Given the description of an element on the screen output the (x, y) to click on. 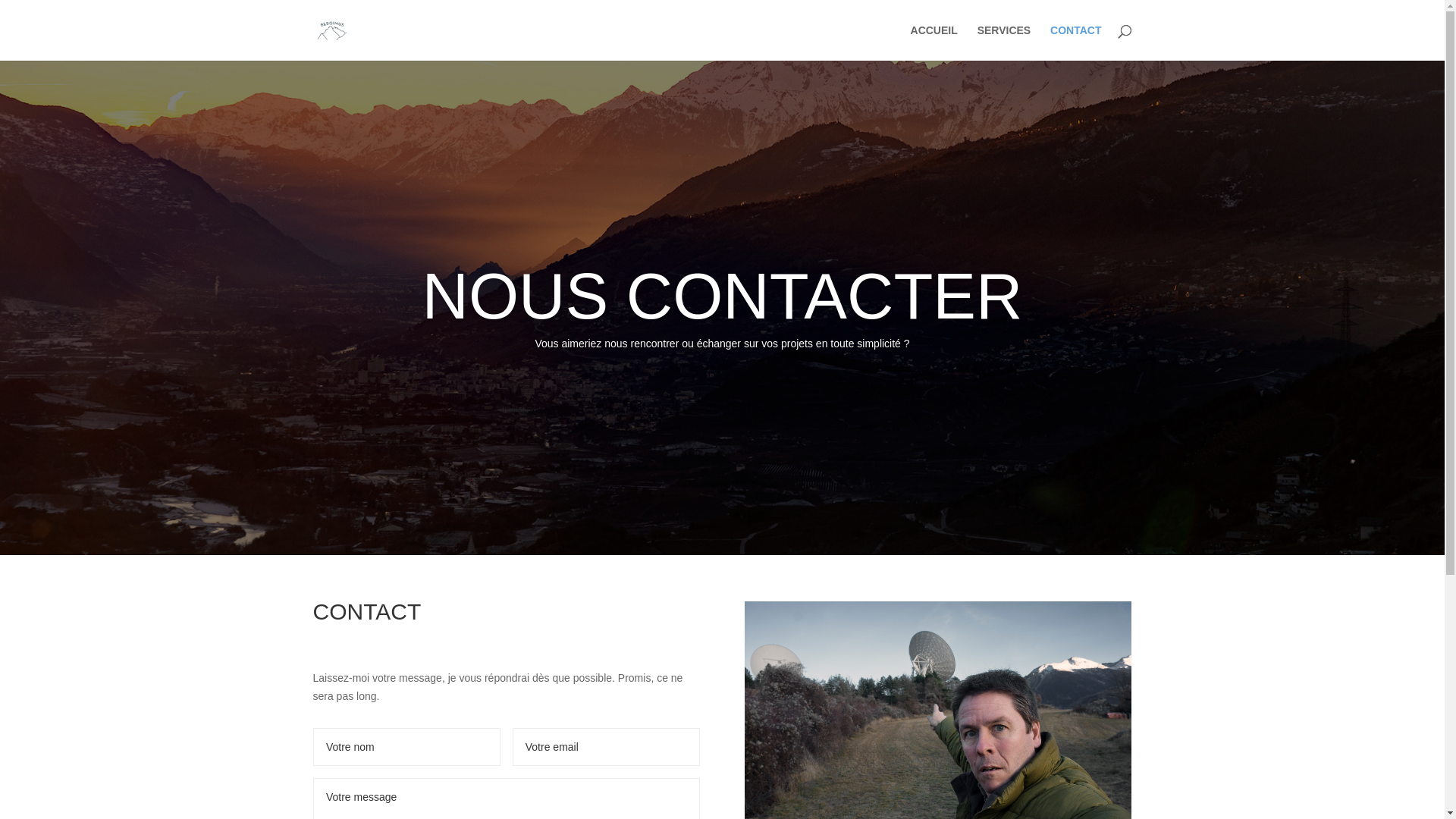
CONTACT Element type: text (1075, 42)
SERVICES Element type: text (1004, 42)
ACCUEIL Element type: text (933, 42)
